Given the description of an element on the screen output the (x, y) to click on. 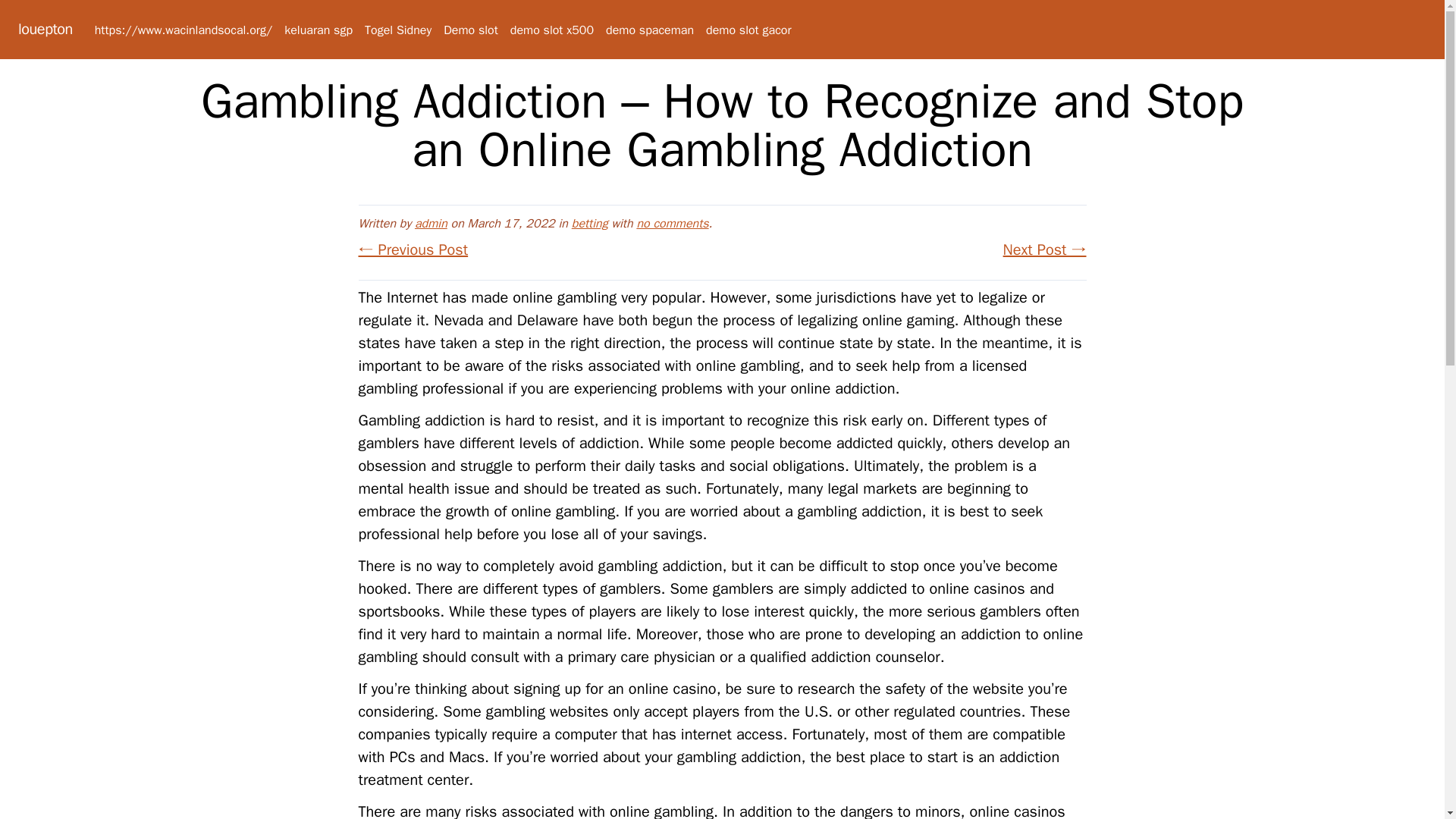
demo slot gacor (748, 30)
louepton (44, 29)
Togel Sidney (397, 30)
betting (590, 223)
no comments (671, 223)
demo slot x500 (552, 30)
admin (430, 223)
keluaran sgp (317, 30)
no comments (671, 223)
demo spaceman (649, 30)
